Given the description of an element on the screen output the (x, y) to click on. 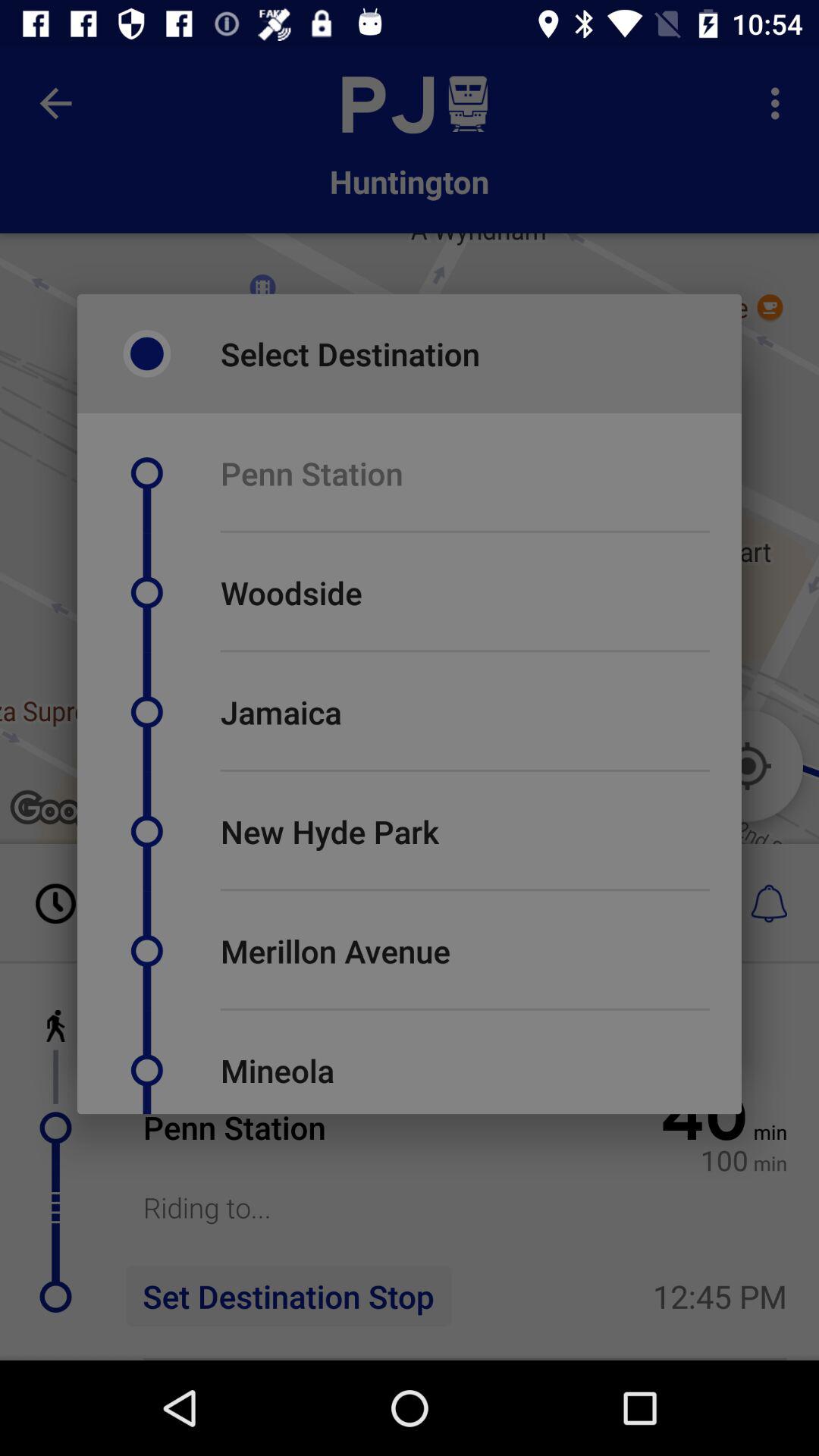
open the woodside item (291, 592)
